Given the description of an element on the screen output the (x, y) to click on. 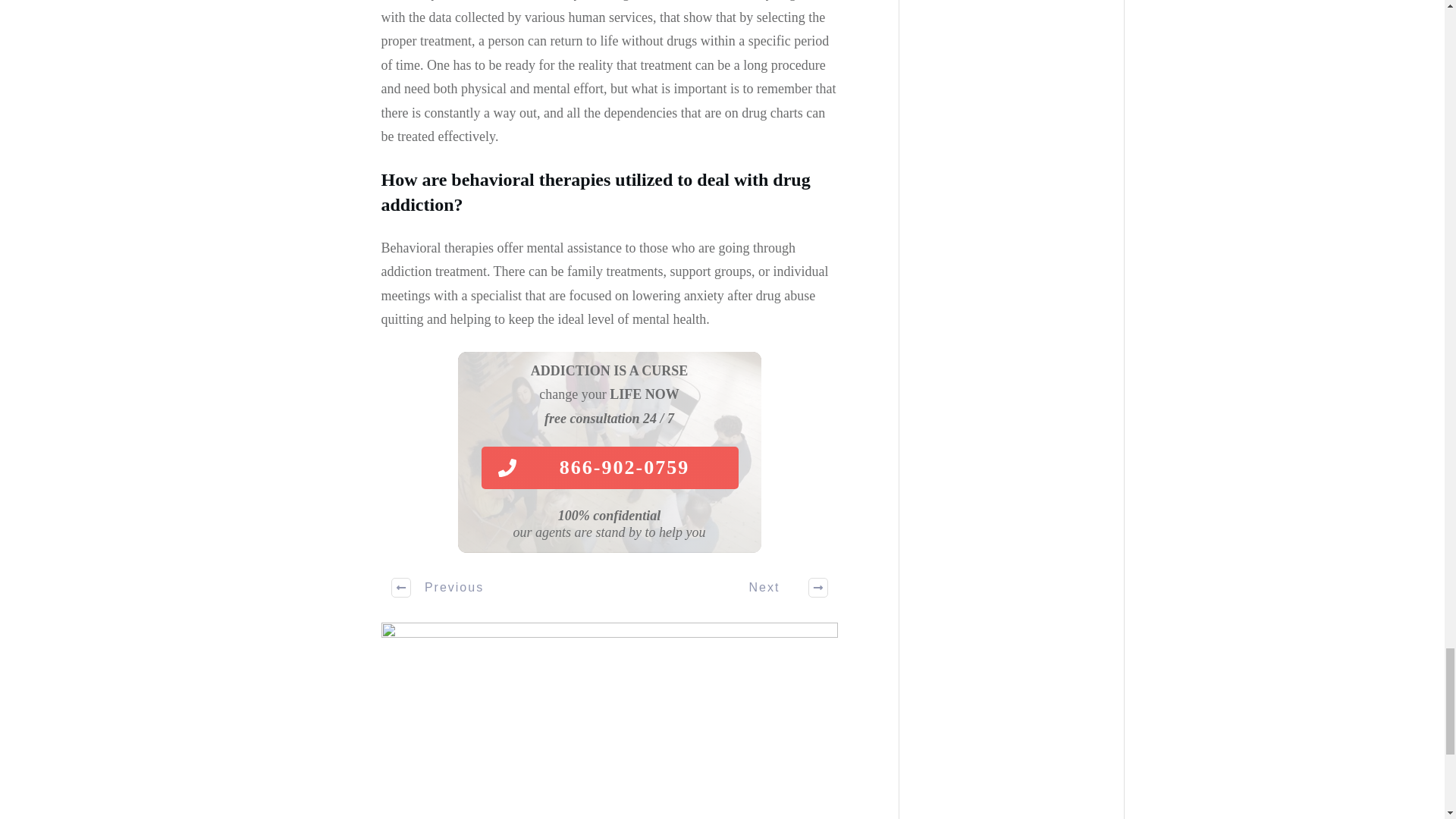
Next (780, 587)
Previous (438, 587)
866-902-0759 (609, 467)
Drug Addiction Treatment in Dubuque, IA (608, 720)
